Given the description of an element on the screen output the (x, y) to click on. 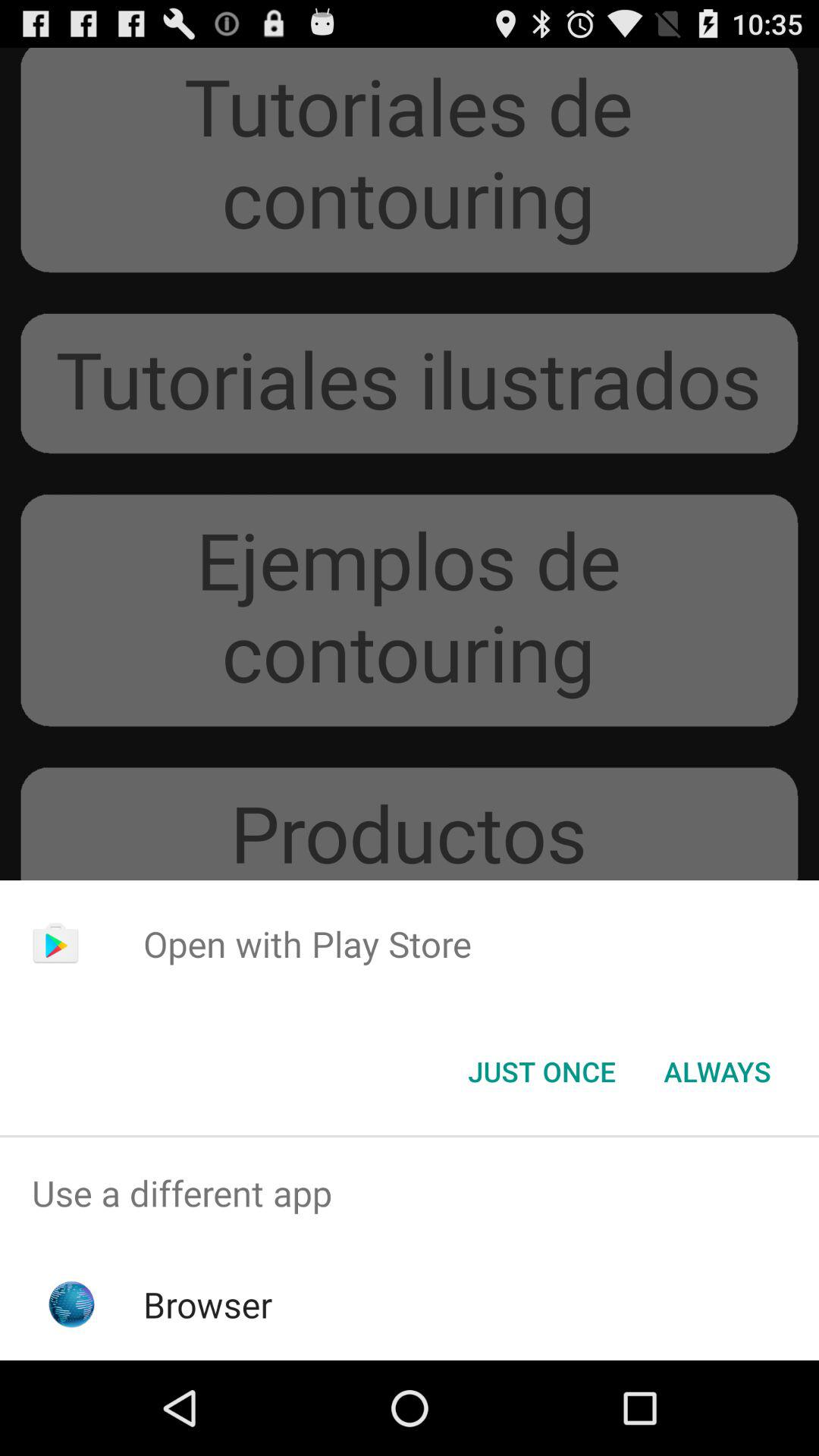
click icon below the open with play app (717, 1071)
